Given the description of an element on the screen output the (x, y) to click on. 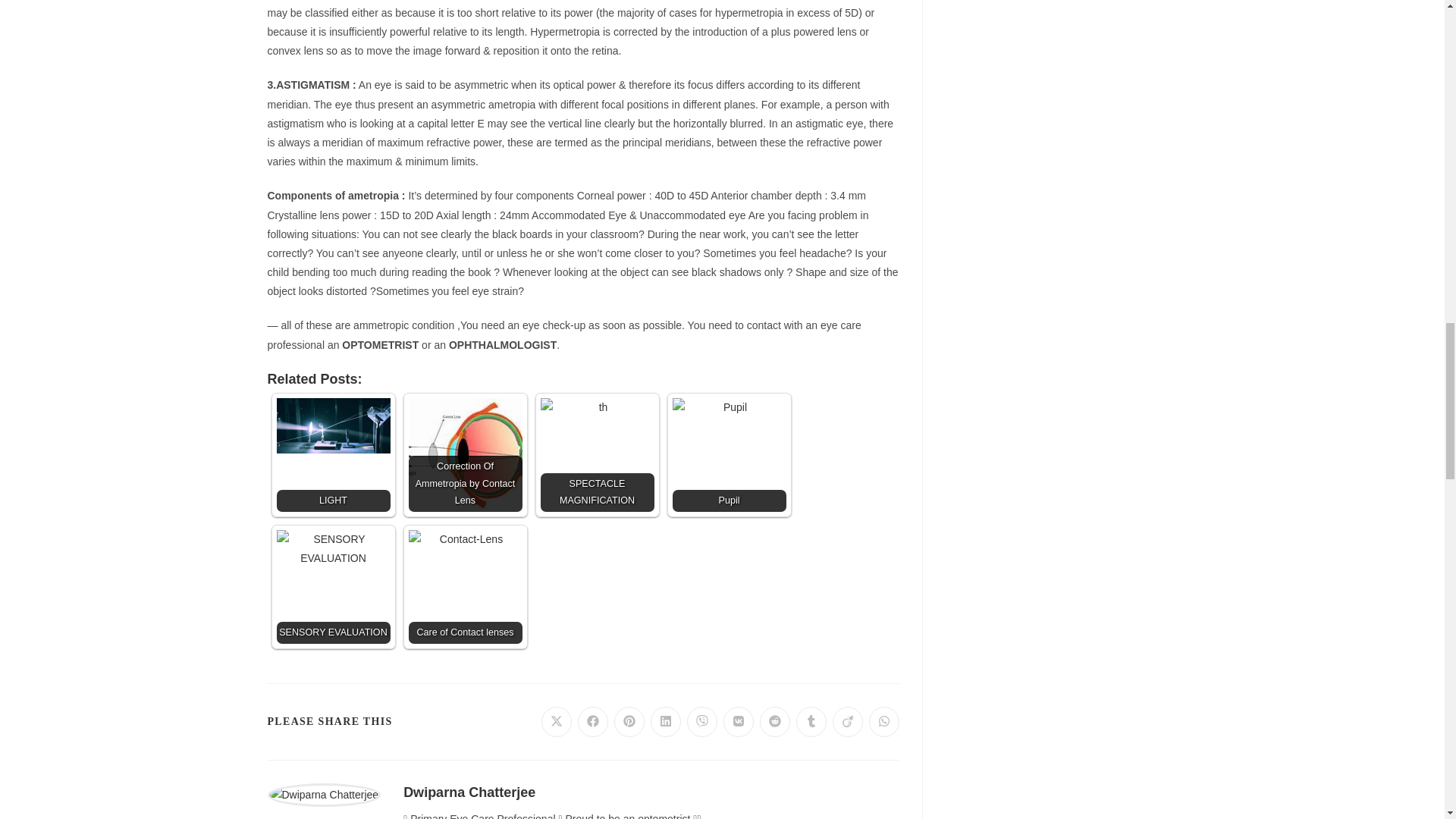
Opens in a new window (556, 721)
Correction Of Ammetropia by Contact Lens (464, 454)
Pupil (728, 454)
Visit author page (323, 793)
LIGHT (333, 425)
Care of Contact lenses (464, 586)
SPECTACLE MAGNIFICATION (596, 454)
SENSORY EVALUATION (333, 586)
LIGHT (333, 454)
SENSORY  EVALUATION (333, 586)
Opens in a new window (738, 721)
Opens in a new window (665, 721)
Opens in a new window (593, 721)
SPECTACLE MAGNIFICATION (596, 454)
Care of Contact lenses (464, 564)
